Given the description of an element on the screen output the (x, y) to click on. 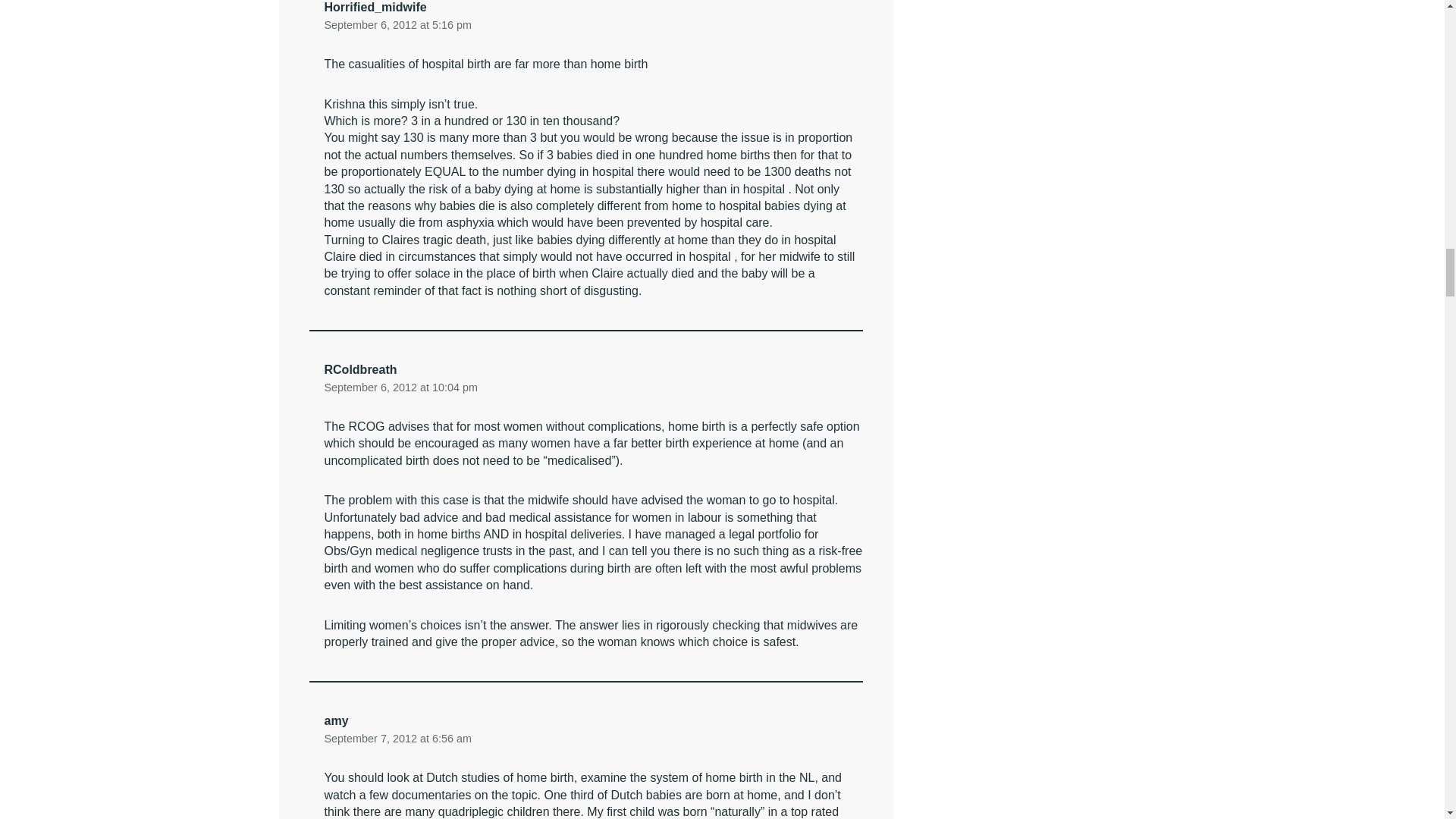
September 6, 2012 at 5:16 pm (397, 24)
September 7, 2012 at 6:56 am (397, 738)
September 6, 2012 at 10:04 pm (400, 387)
